Given the description of an element on the screen output the (x, y) to click on. 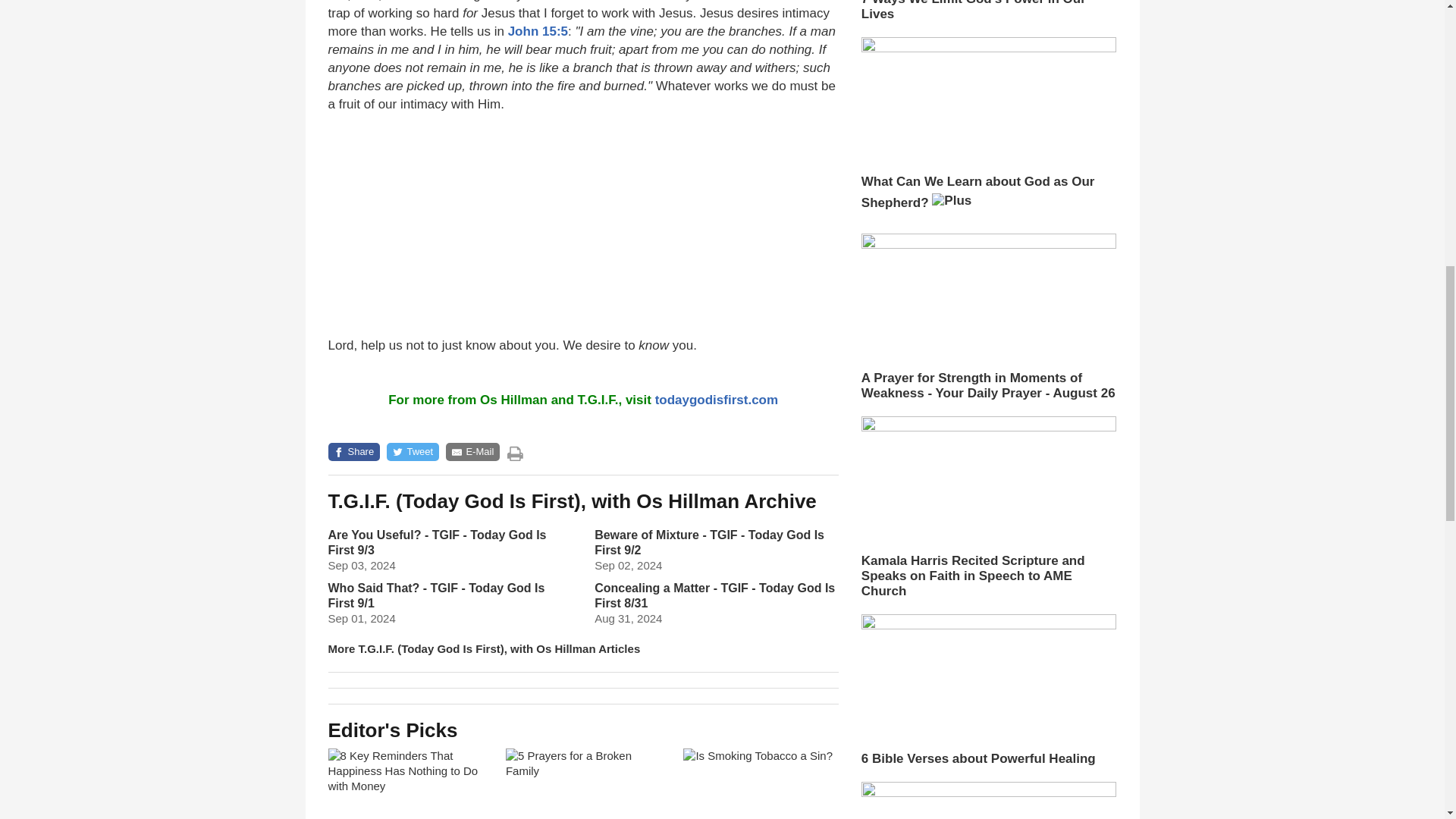
8 Key Reminders That Happiness Has Nothing to Do with Money (404, 783)
Is Smoking Tobacco a Sin? (760, 783)
5 Prayers for a Broken Family (583, 783)
